Given the description of an element on the screen output the (x, y) to click on. 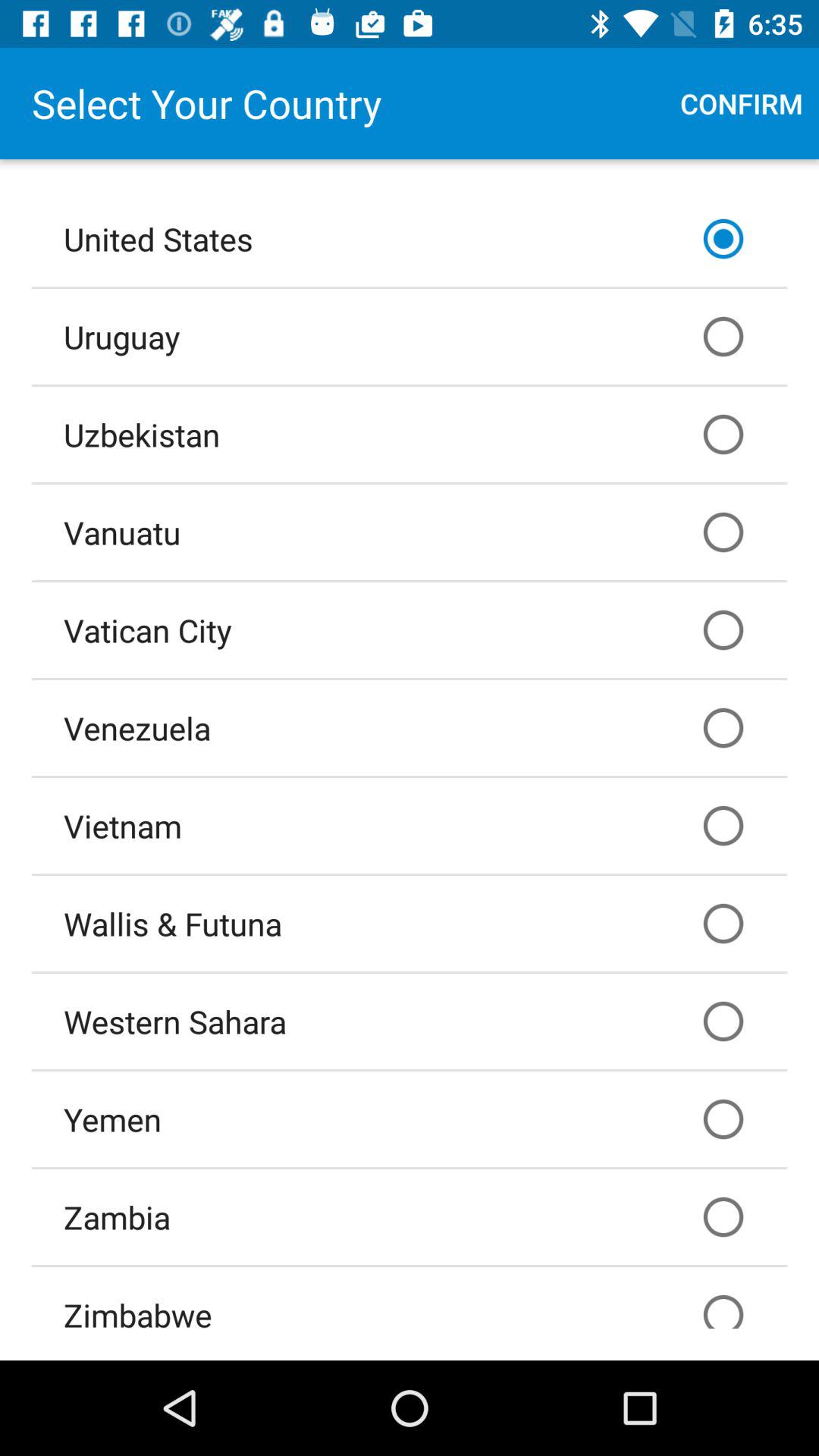
turn off icon above the uzbekistan icon (409, 336)
